Given the description of an element on the screen output the (x, y) to click on. 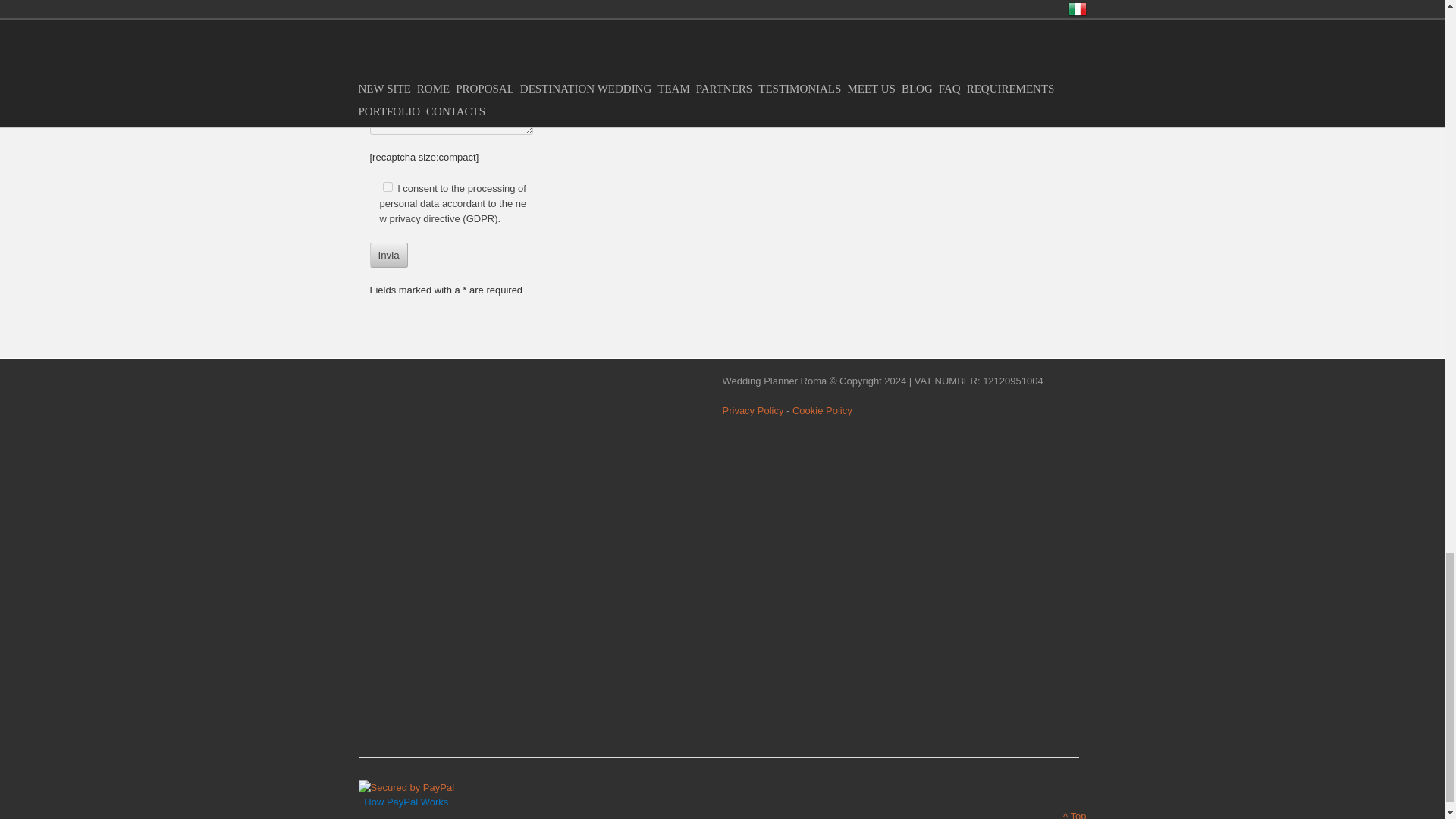
How PayPal Works (406, 787)
Invia (388, 254)
1 (386, 186)
